Given the description of an element on the screen output the (x, y) to click on. 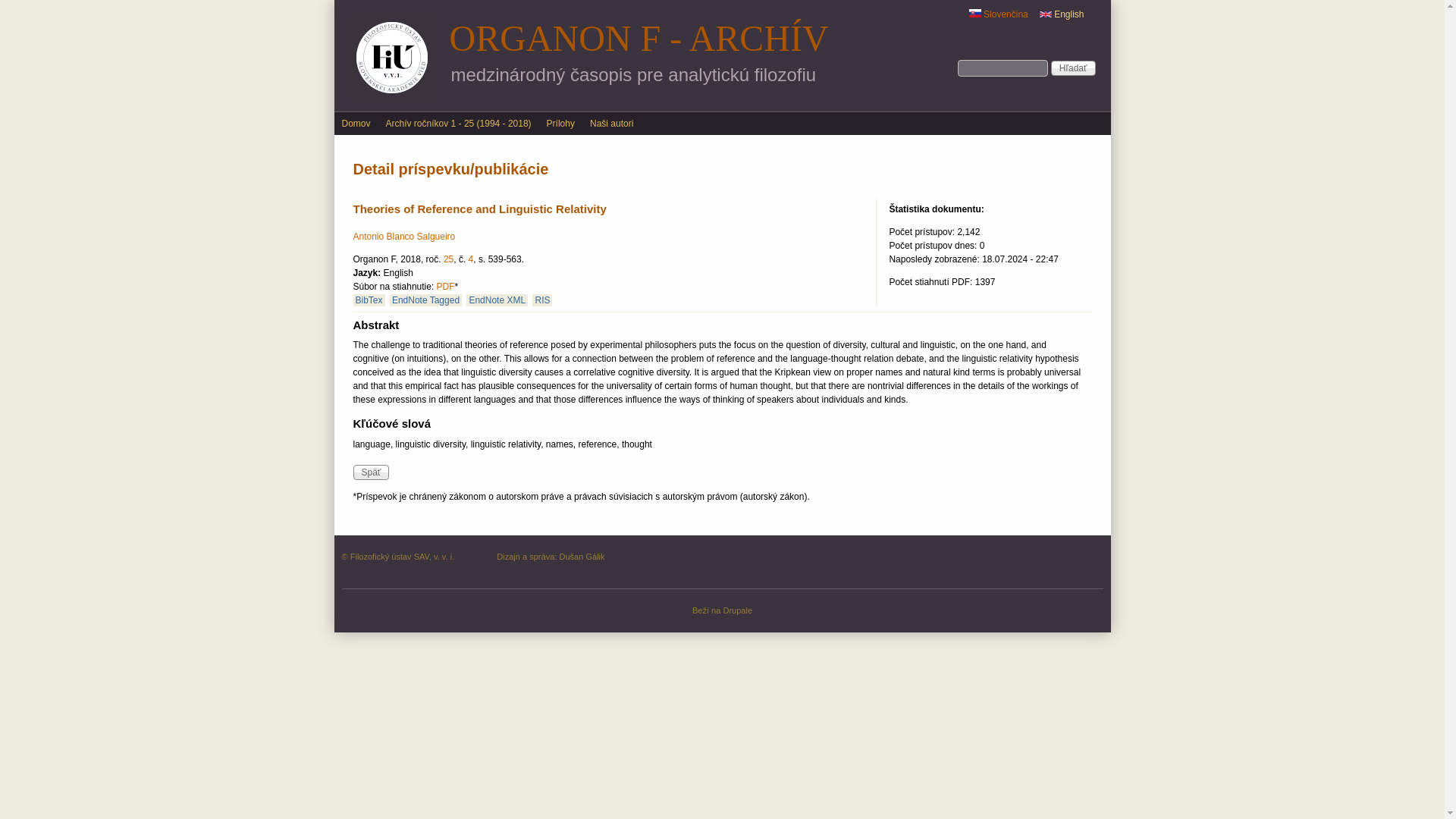
Antonio Blanco Salgueiro (404, 235)
EndNote XML (496, 300)
Drupale (737, 610)
BibTex (369, 300)
English (1045, 14)
EndNote Tagged (425, 300)
PDF (445, 286)
English (1061, 14)
Domov (355, 123)
RIS (541, 300)
25 (448, 258)
